Given the description of an element on the screen output the (x, y) to click on. 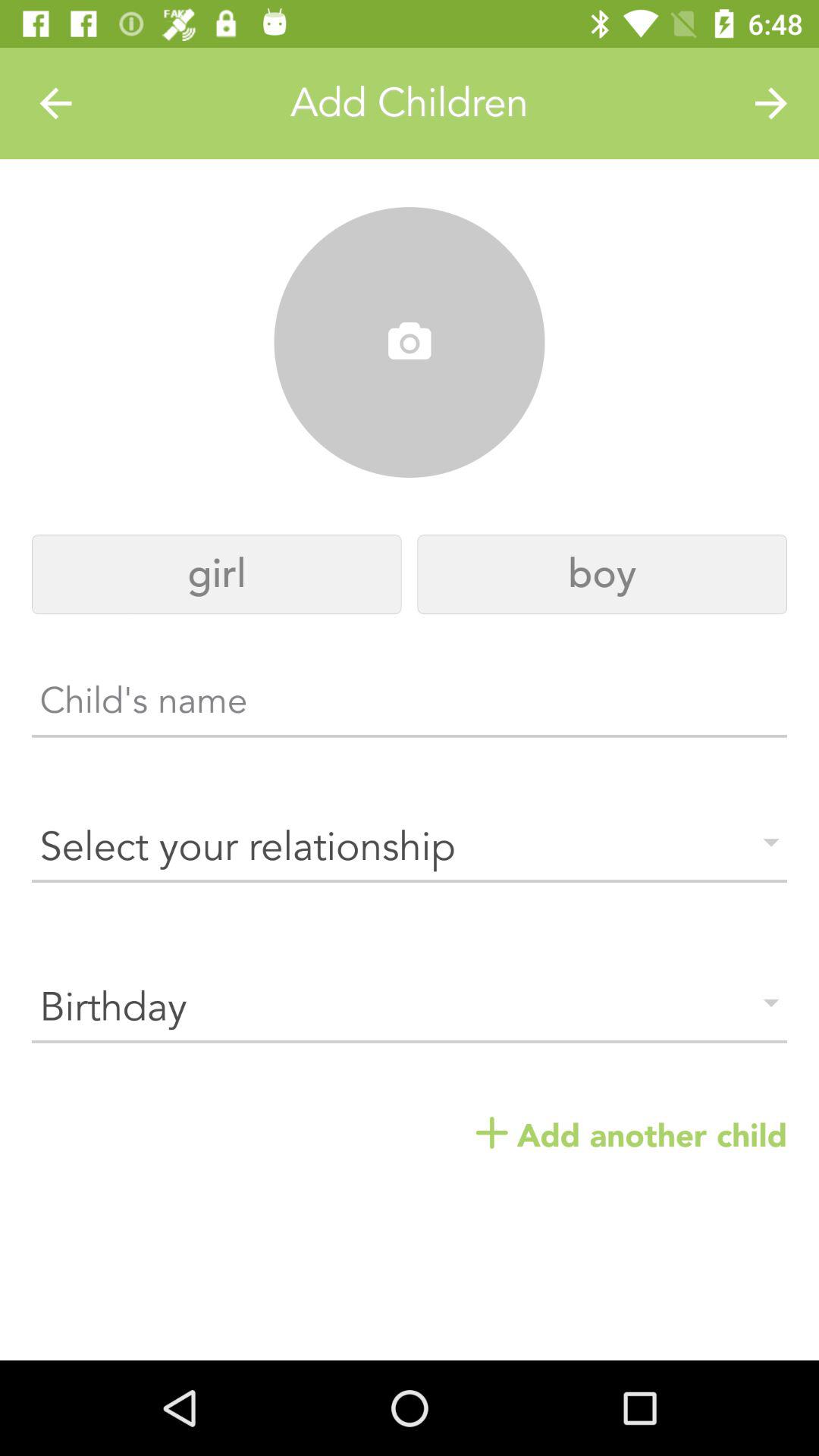
select the item to the right of add children icon (771, 103)
